Given the description of an element on the screen output the (x, y) to click on. 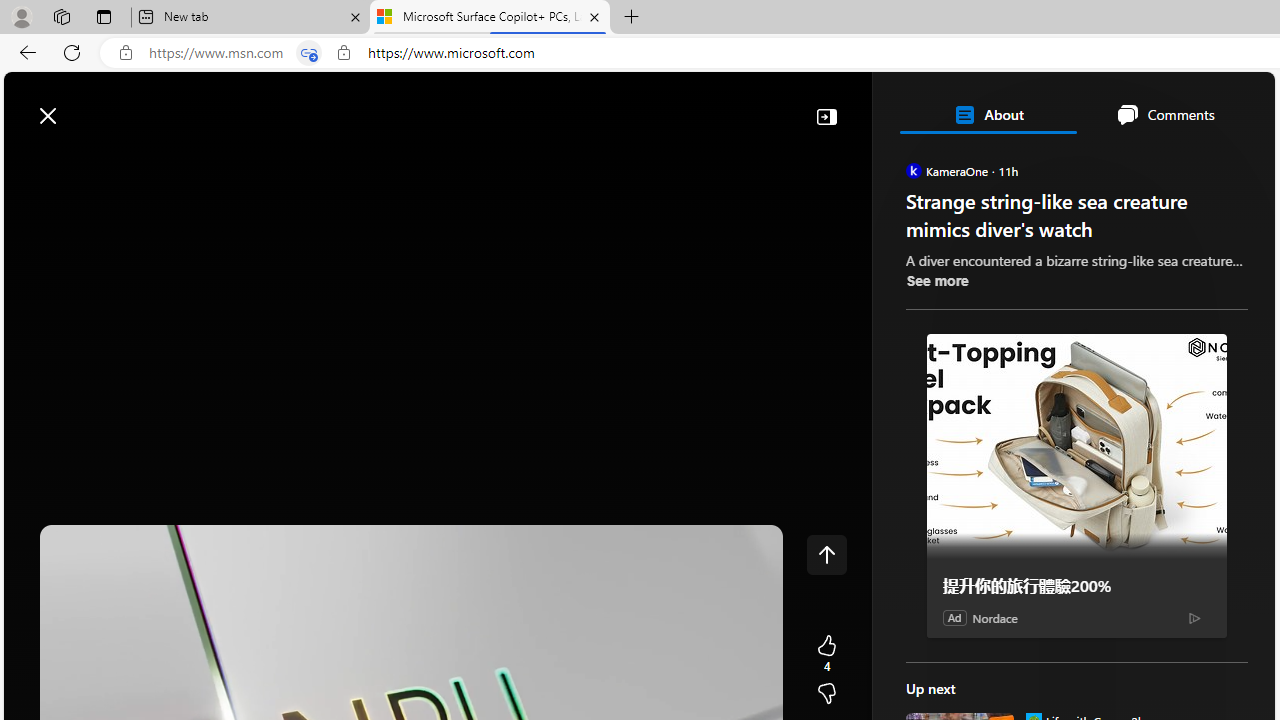
Class: control icon-only (826, 554)
Watch (257, 162)
Microsoft rewards (1151, 105)
The Associated Press (974, 645)
Enter your search term (644, 106)
About (987, 114)
Skip to footer (82, 105)
